Given the description of an element on the screen output the (x, y) to click on. 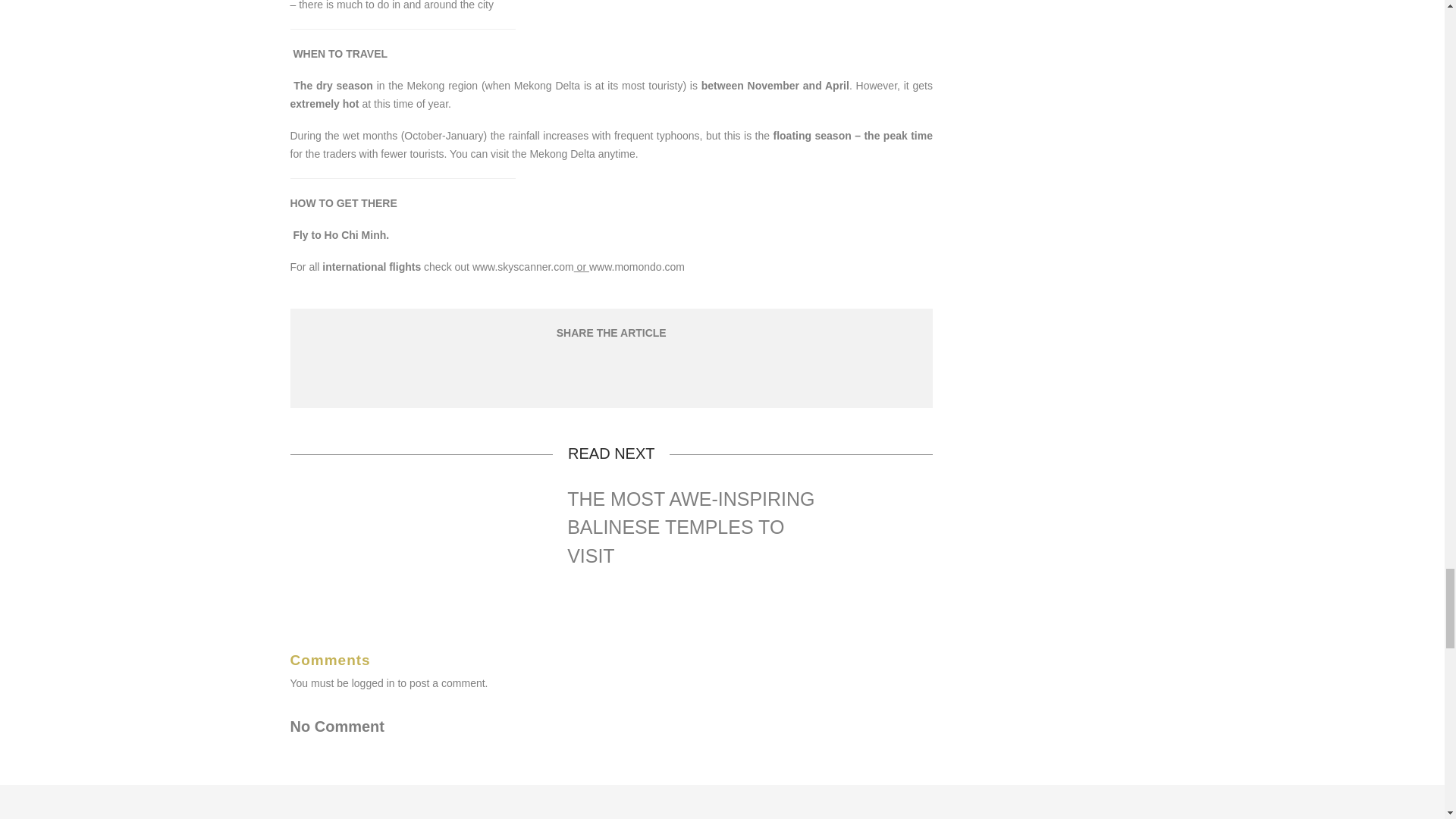
Share on Twitter (609, 371)
Share on Facebook (573, 371)
www.skyscanner.com (522, 266)
www.momondo.com (636, 266)
Share on Pinterest (646, 371)
logged in (373, 683)
